Given the description of an element on the screen output the (x, y) to click on. 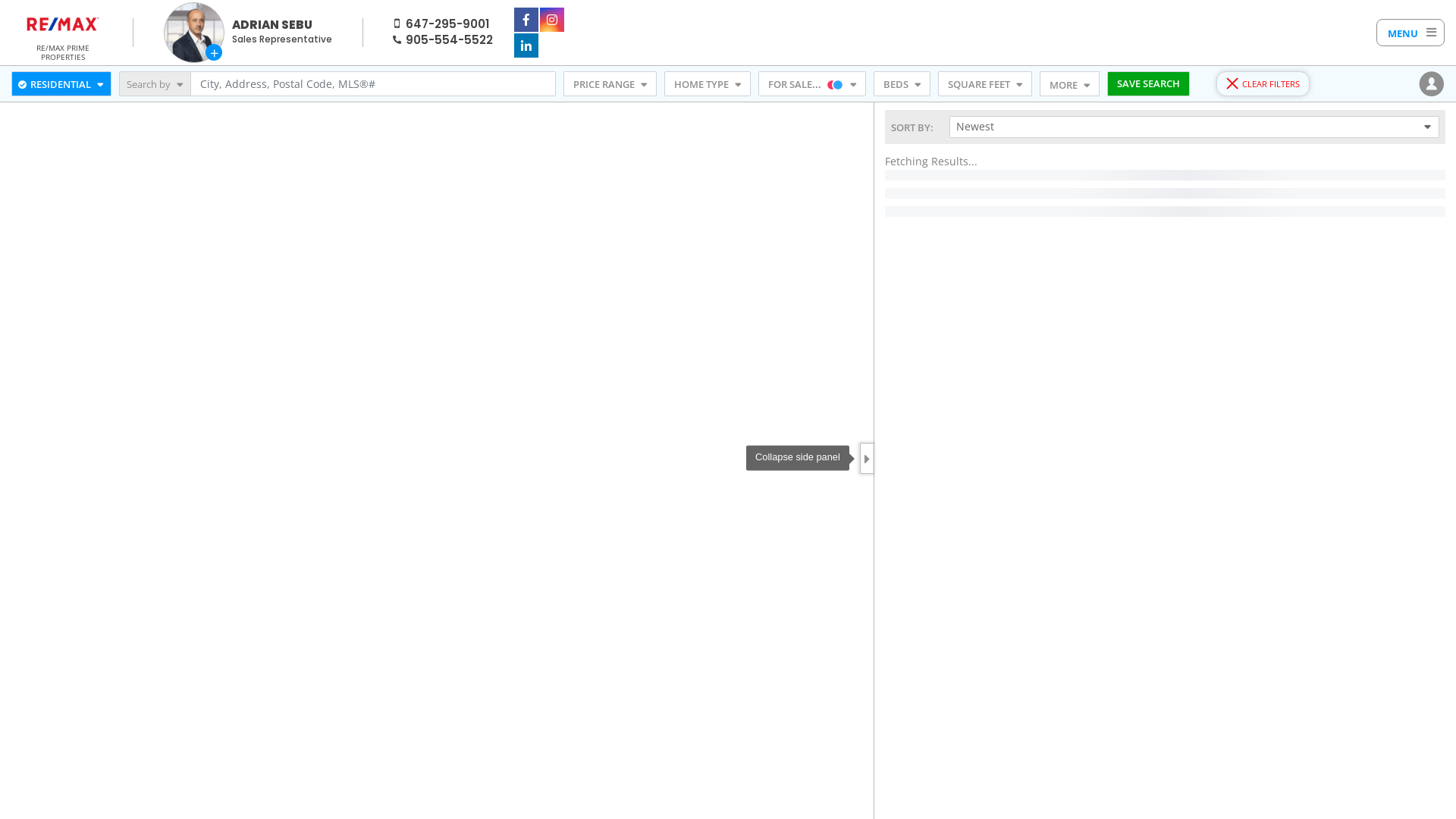
Search by Element type: text (155, 84)
RESIDENTIAL Element type: text (61, 84)
Newest Element type: text (1194, 127)
SAVE SEARCH Element type: text (1148, 84)
RE/MAX PRIME PROPERTIES Element type: text (62, 50)
FOR SALE... Element type: text (812, 84)
HOME TYPE Element type: text (707, 84)
MENU Element type: text (1410, 32)
ADRIAN SEBU Element type: text (272, 24)
CLEAR FILTERS Element type: text (1262, 84)
SQUARE FEET Element type: text (985, 84)
647-295-9001 Element type: text (447, 23)
BEDS Element type: text (901, 84)
905-554-5522 Element type: text (448, 39)
PRICE RANGE Element type: text (609, 84)
Sales Representative Element type: text (282, 38)
